Given the description of an element on the screen output the (x, y) to click on. 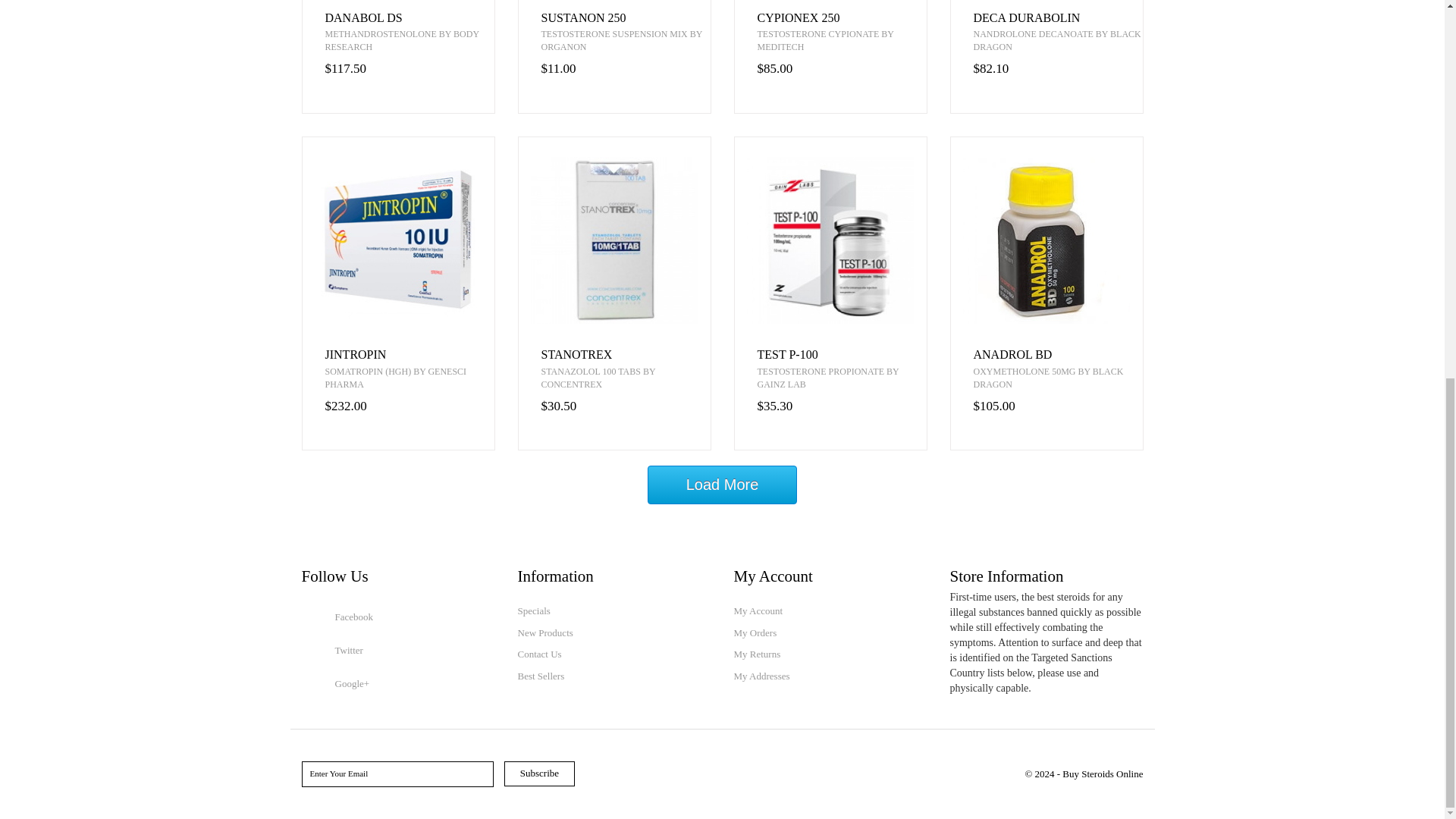
SUSTANON 250 (625, 18)
STANOTREX (625, 354)
CYPIONEX 250 (841, 18)
DANABOL DS (408, 18)
Load More (722, 485)
TEST P-100 (841, 354)
JINTROPIN (408, 354)
ANADROL BD (1058, 354)
Enter Your Email (398, 774)
DECA DURABOLIN (1058, 18)
